Given the description of an element on the screen output the (x, y) to click on. 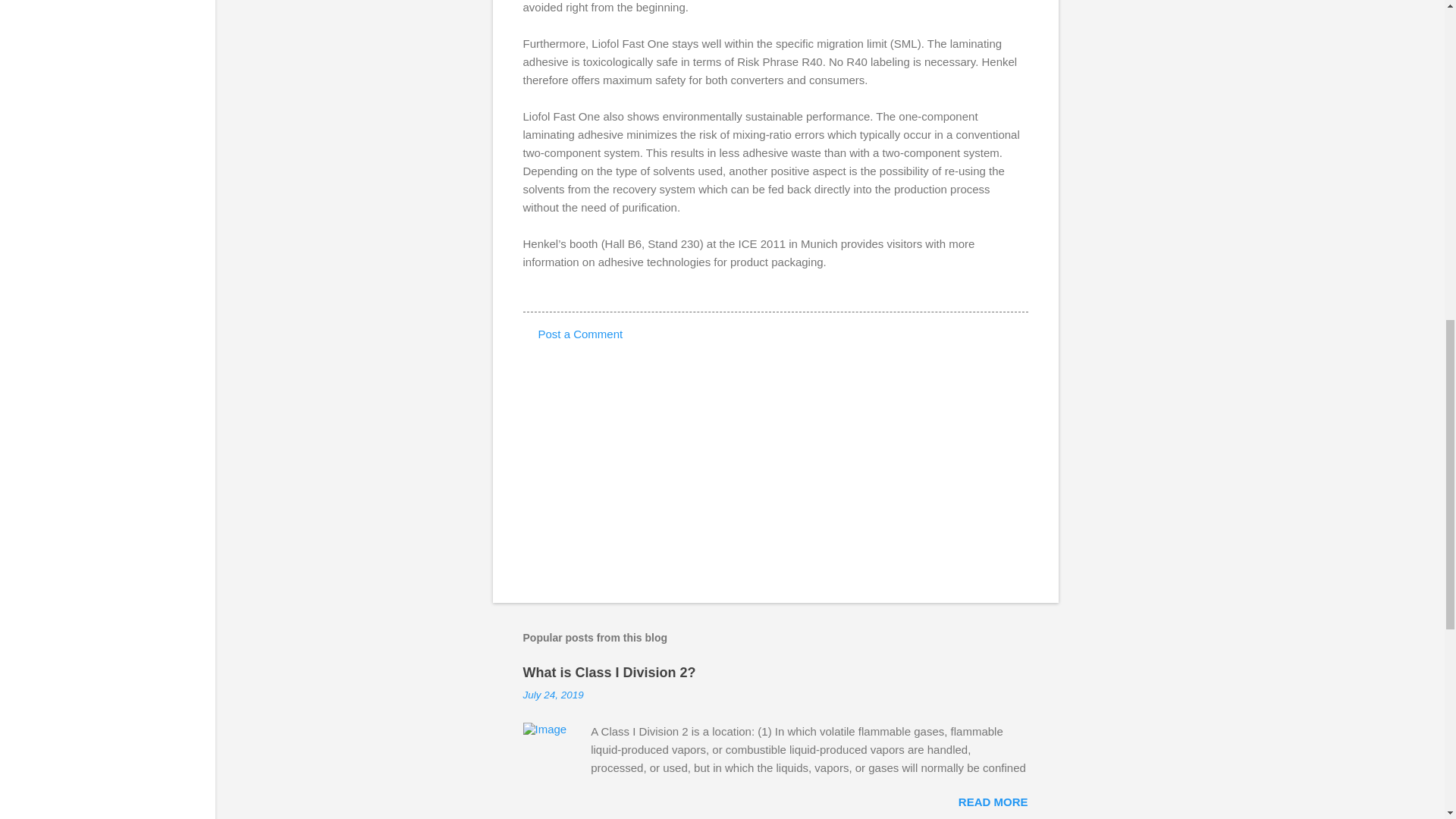
What is Class I Division 2? (608, 672)
READ MORE (992, 801)
July 24, 2019 (552, 695)
Post a Comment (580, 333)
